Given the description of an element on the screen output the (x, y) to click on. 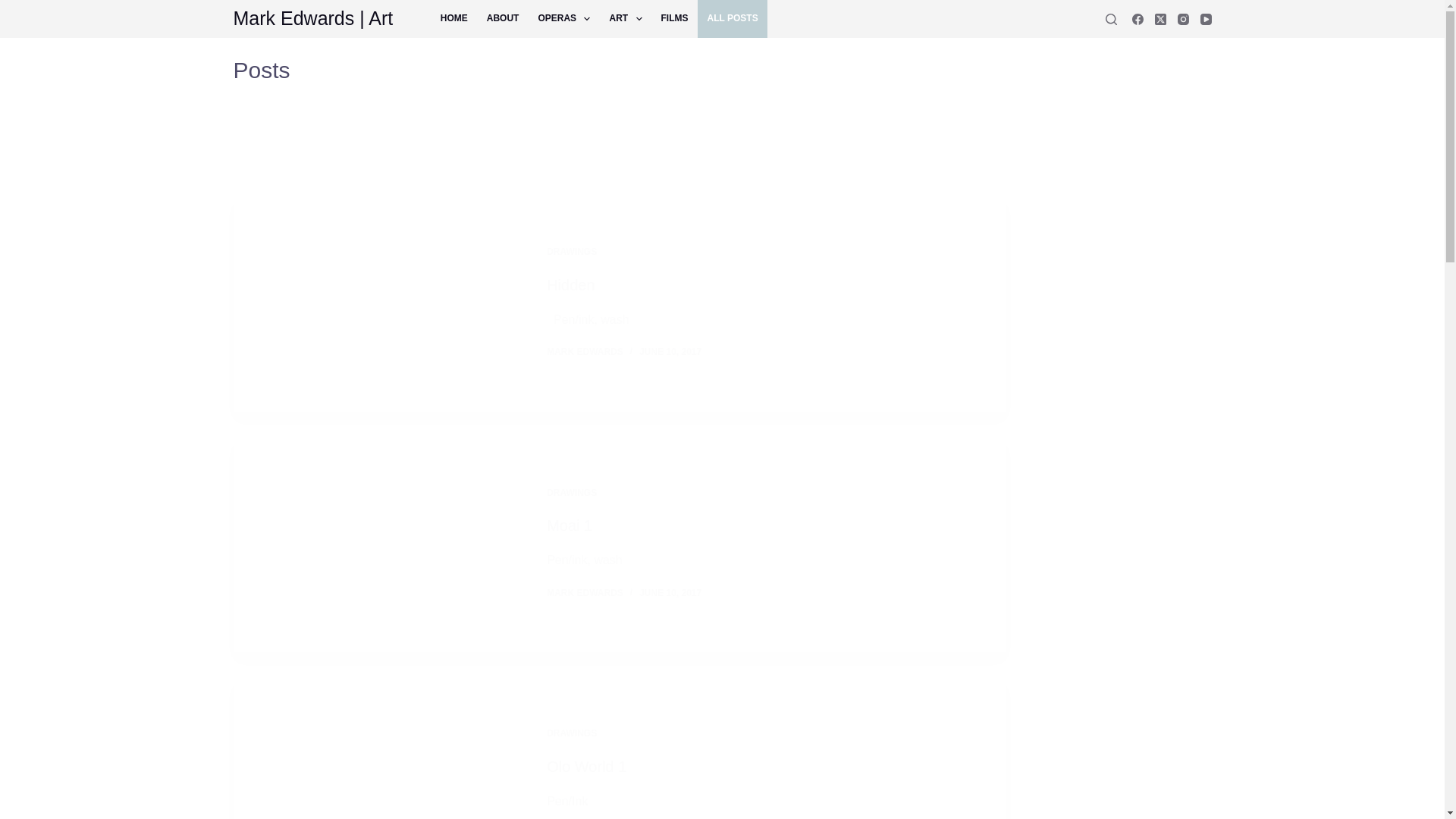
ABOUT (502, 18)
HOME (453, 18)
Posts by Mark Edwards (585, 593)
OPERAS (563, 18)
Skip to content (15, 7)
ALL POSTS (732, 18)
FILMS (673, 18)
Posts by Mark Edwards (585, 351)
ART (624, 18)
Posts (619, 69)
